Given the description of an element on the screen output the (x, y) to click on. 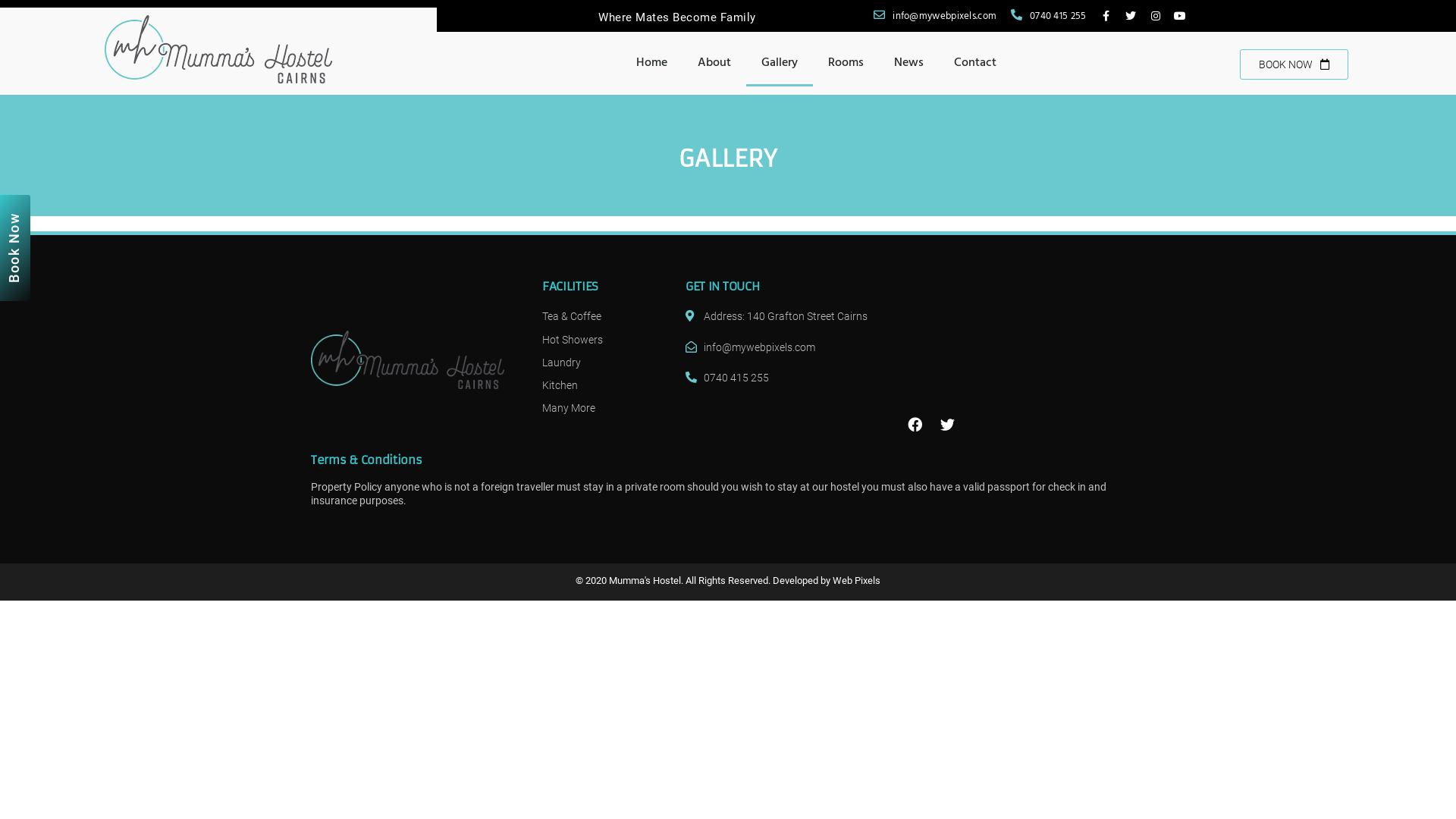
0740 415 255 Element type: text (1046, 17)
info@mywebpixels.com Element type: text (784, 347)
News Element type: text (908, 63)
Contact Element type: text (974, 63)
Web Pixels Element type: text (856, 580)
Rooms Element type: text (845, 63)
BOOK NOW Element type: text (1293, 64)
info@mywebpixels.com Element type: text (933, 17)
Home Element type: text (651, 63)
0740 415 255 Element type: text (784, 377)
Gallery Element type: text (779, 63)
About Element type: text (714, 63)
